Given the description of an element on the screen output the (x, y) to click on. 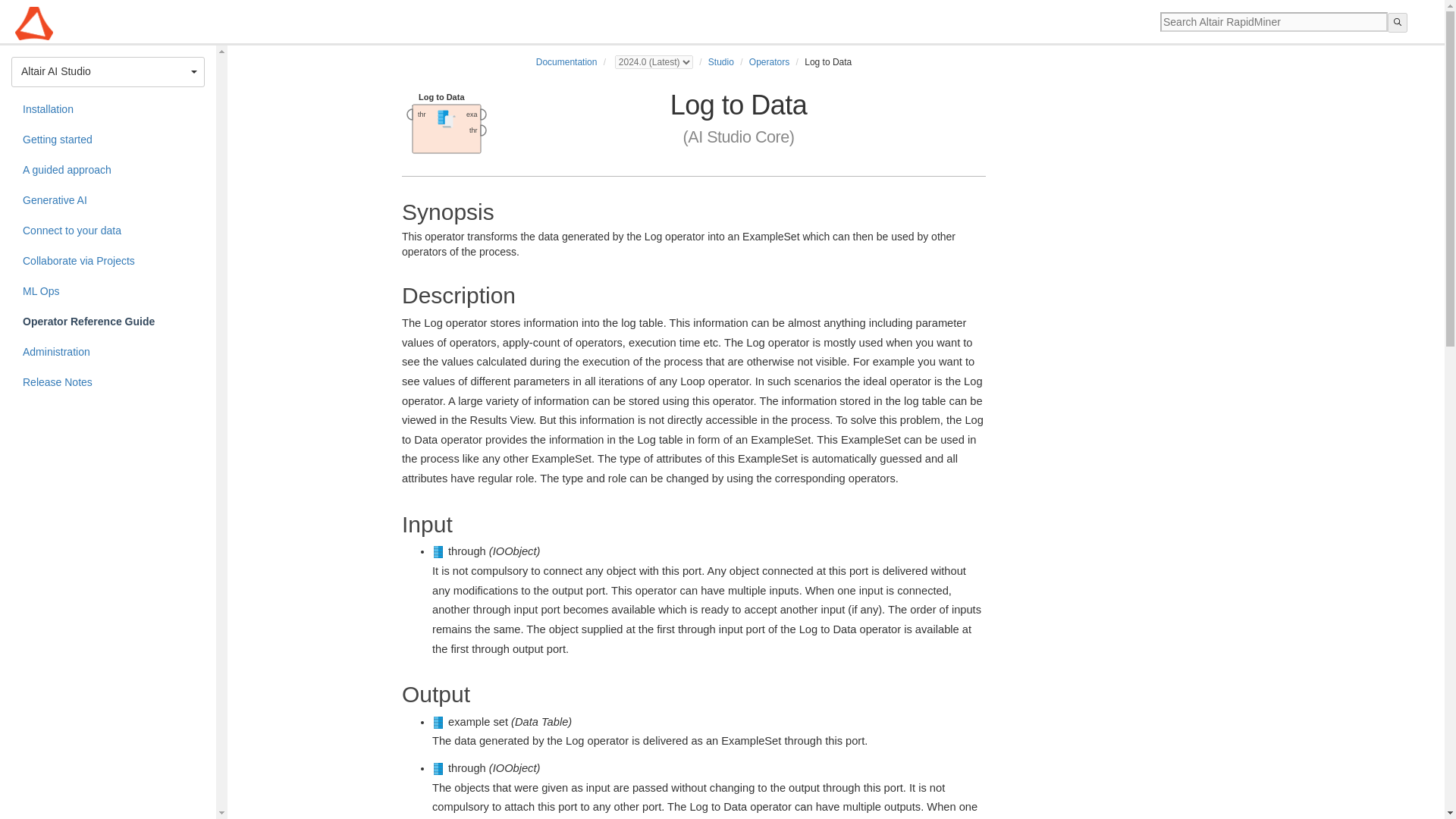
Release Notes (108, 382)
Studio (720, 61)
ML Ops (108, 291)
Documentation (565, 61)
Connect to your data (108, 231)
Installation (108, 110)
A guided approach (108, 170)
Operators (769, 61)
Administration (108, 352)
Generative AI (108, 200)
Submit the search query. (1397, 22)
Getting started (108, 140)
Operator Reference Guide (108, 322)
Collaborate via Projects (108, 261)
